Given the description of an element on the screen output the (x, y) to click on. 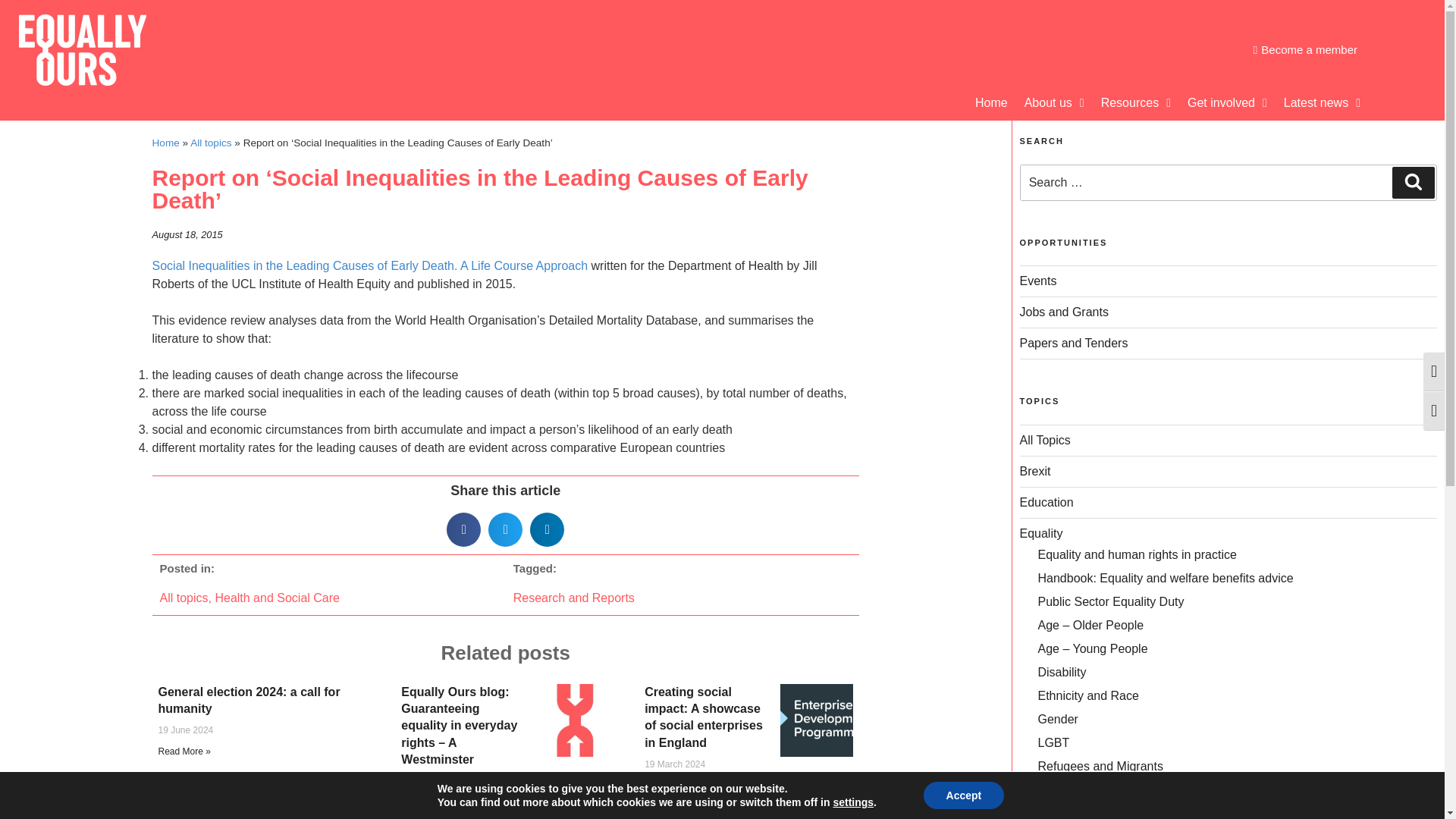
About us (1054, 102)
Get involved (1227, 102)
Home (991, 102)
Become a member (1304, 49)
Latest news (1321, 102)
Resources (1136, 102)
